Given the description of an element on the screen output the (x, y) to click on. 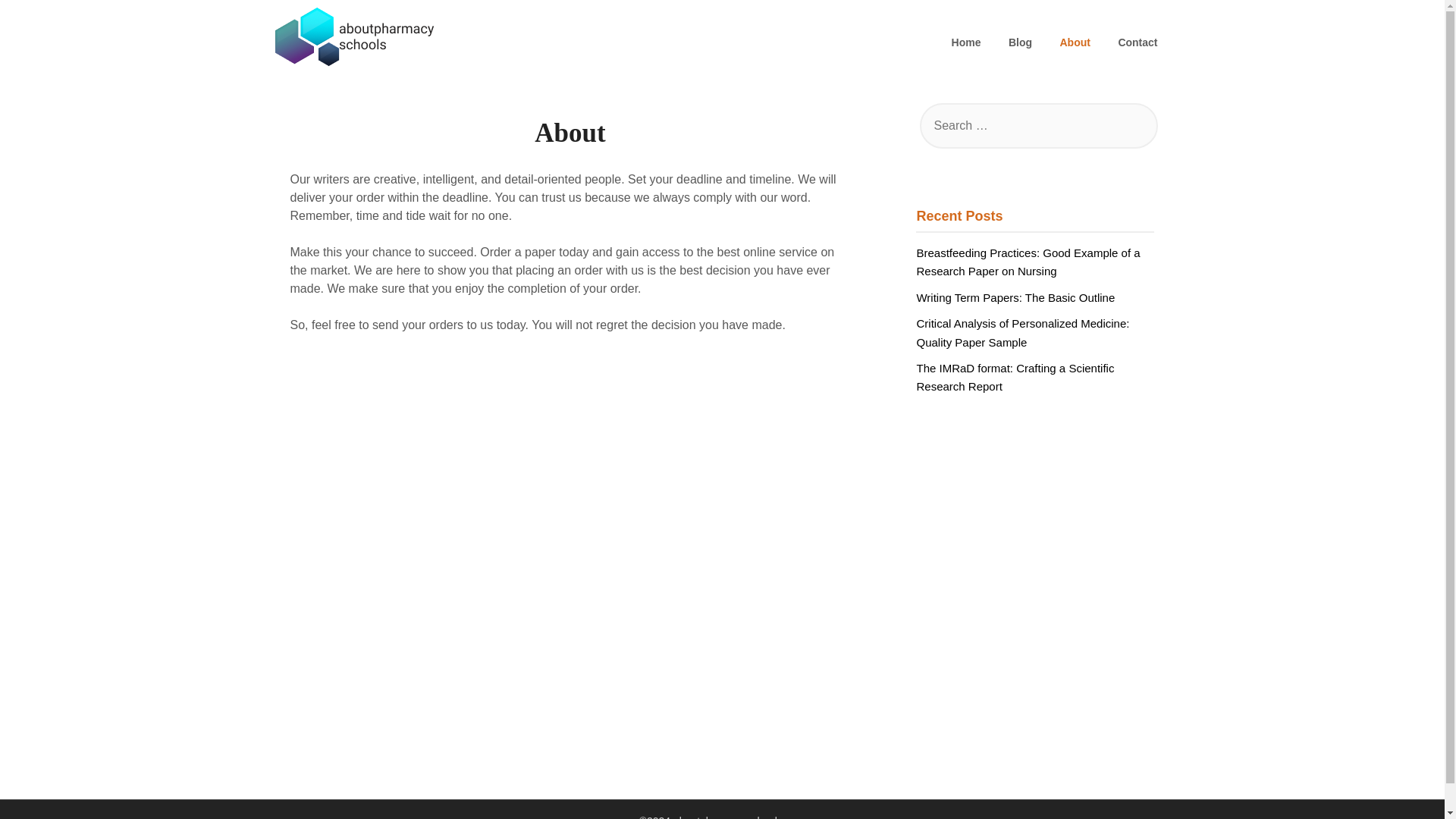
Home (965, 42)
About (1074, 42)
Contact (1137, 42)
The IMRaD format: Crafting a Scientific Research Report (1014, 377)
Blog (1019, 42)
Writing Term Papers: The Basic Outline (1015, 297)
Search (38, 22)
